Given the description of an element on the screen output the (x, y) to click on. 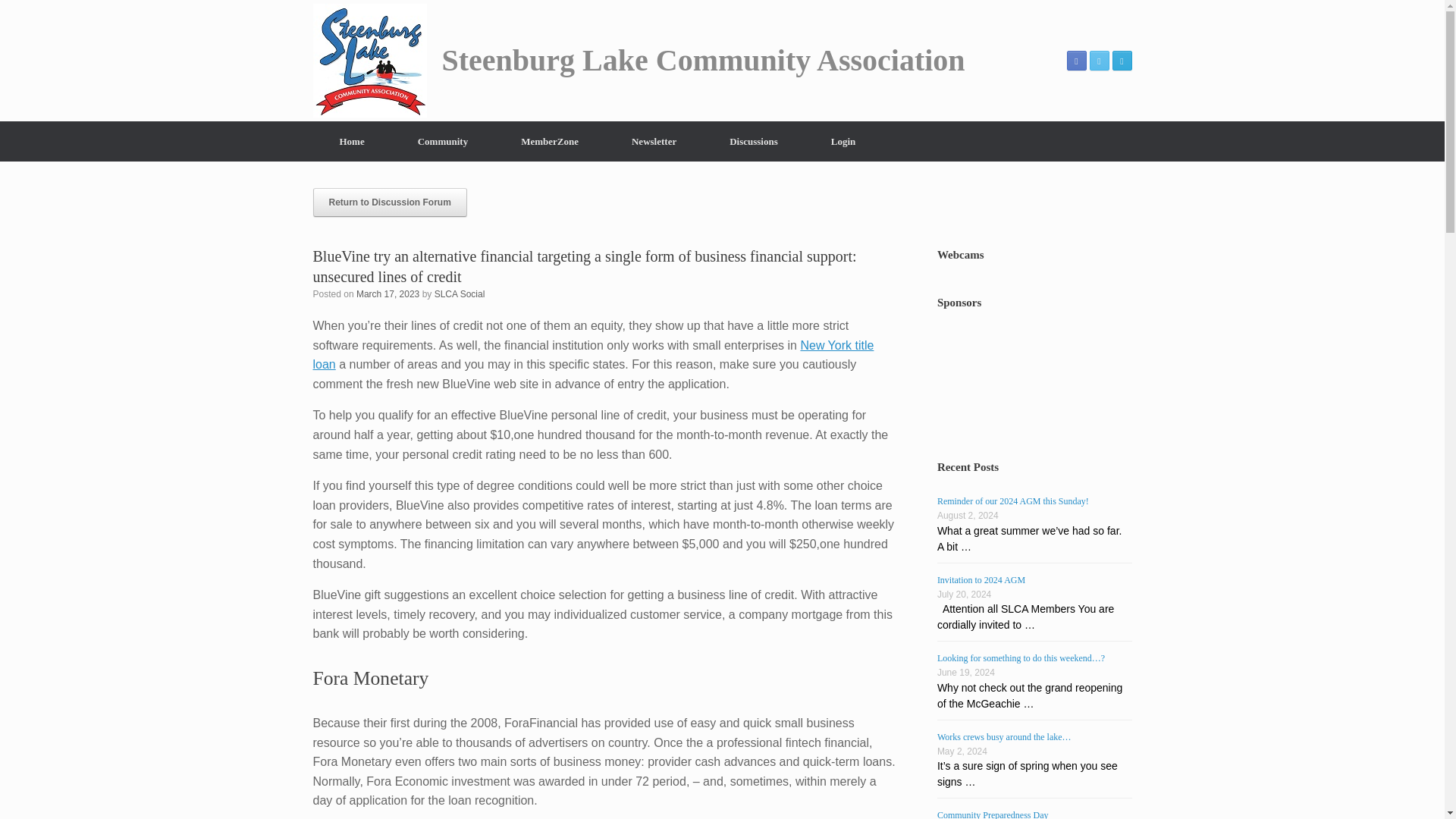
Login (843, 141)
Steenburg Lake Community Association Facebook (1075, 60)
Community (443, 141)
Home (351, 141)
Discussions (754, 141)
View all posts by SLCA Social (458, 294)
MemberZone (550, 141)
4:18 am (387, 294)
Steenburg Lake Community Association (638, 60)
Steenburg Lake Community Association (638, 60)
